Given the description of an element on the screen output the (x, y) to click on. 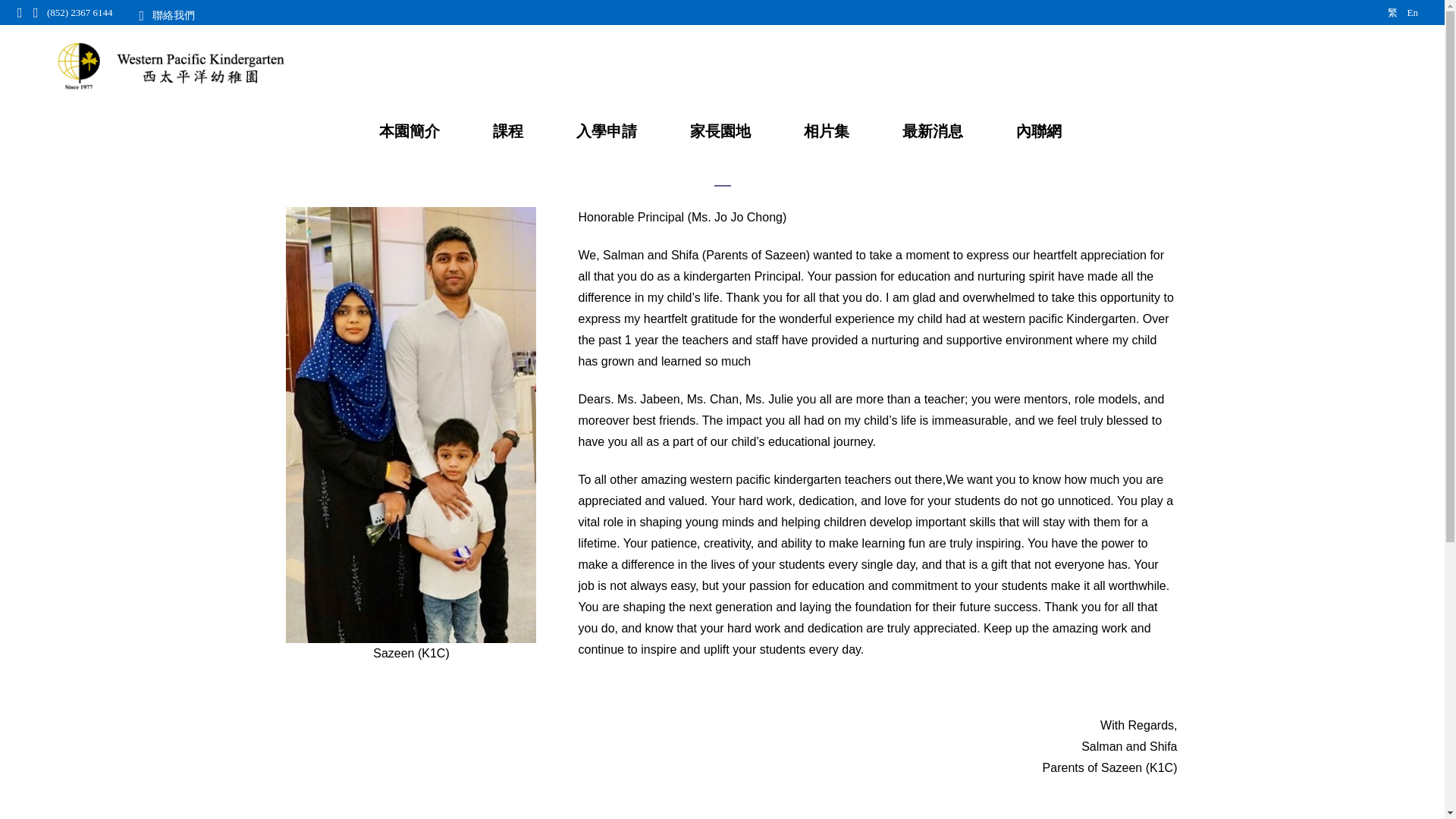
En (1412, 12)
Sazeen (410, 424)
